Given the description of an element on the screen output the (x, y) to click on. 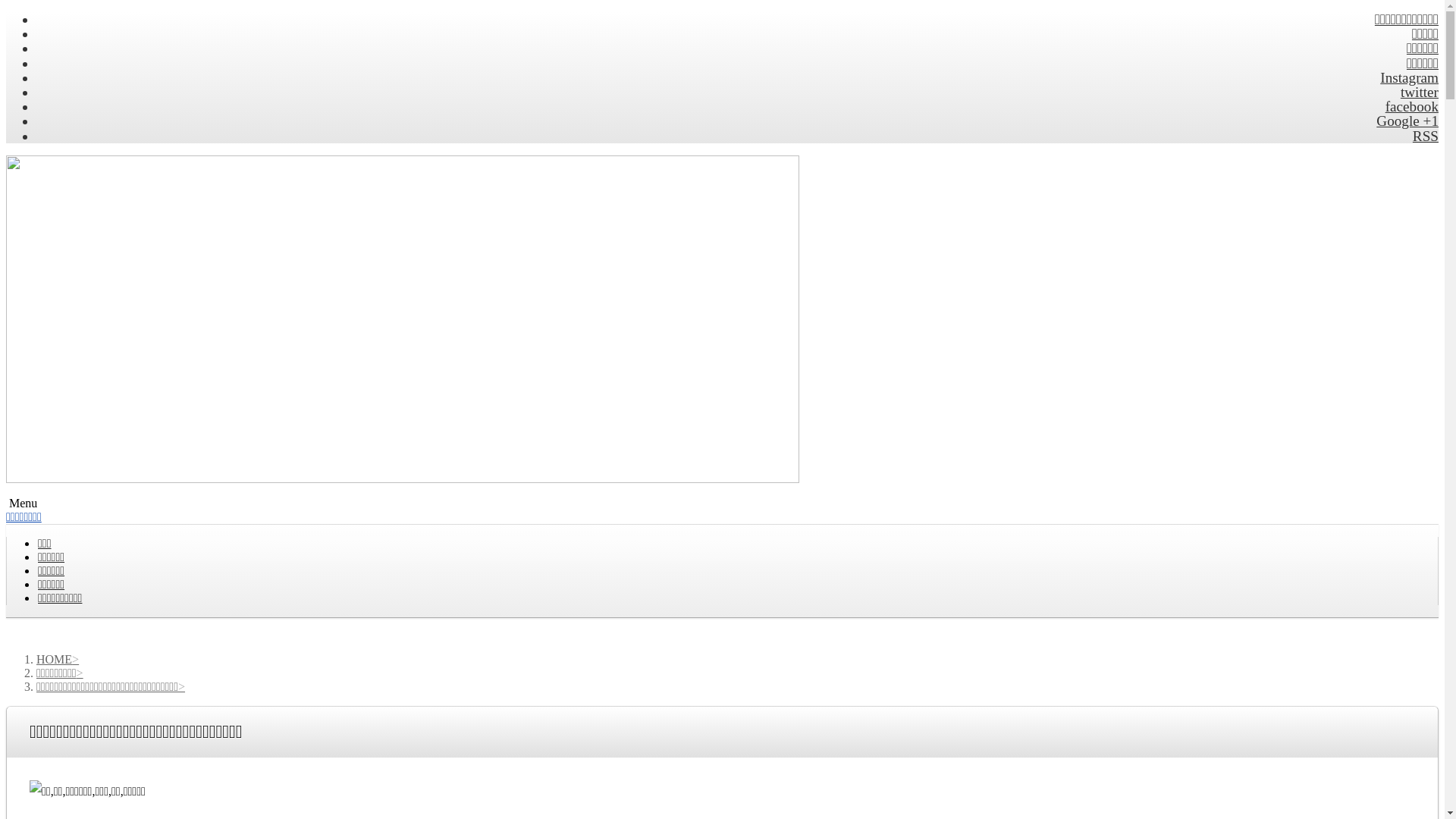
HOME Element type: text (57, 658)
facebook Element type: text (1405, 106)
Google +1 Element type: text (1401, 120)
Instagram Element type: text (1403, 77)
twitter Element type: text (1413, 92)
RSS Element type: text (1419, 136)
